Given the description of an element on the screen output the (x, y) to click on. 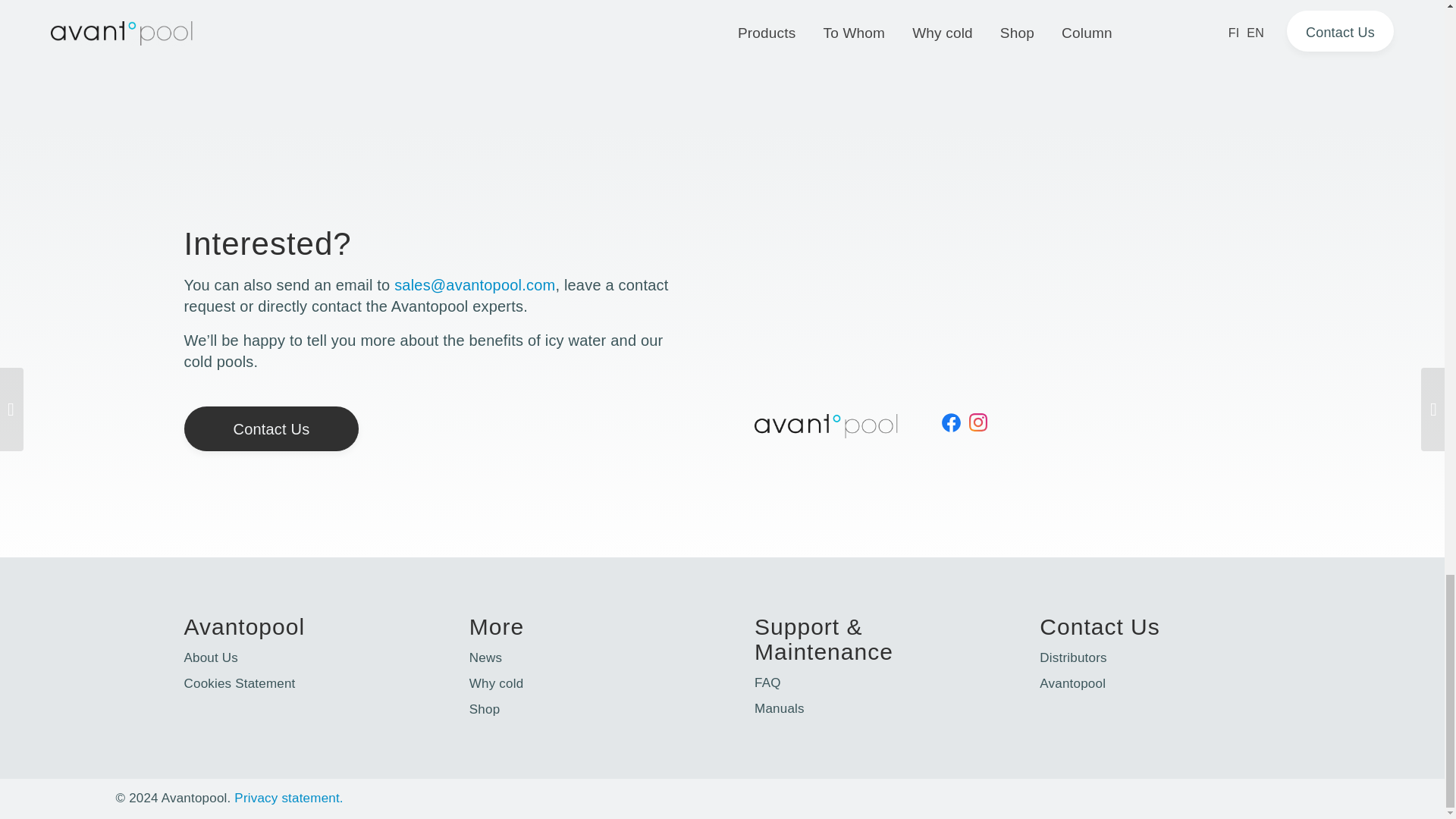
Avantopool logo (826, 426)
Contact Us (270, 428)
